Given the description of an element on the screen output the (x, y) to click on. 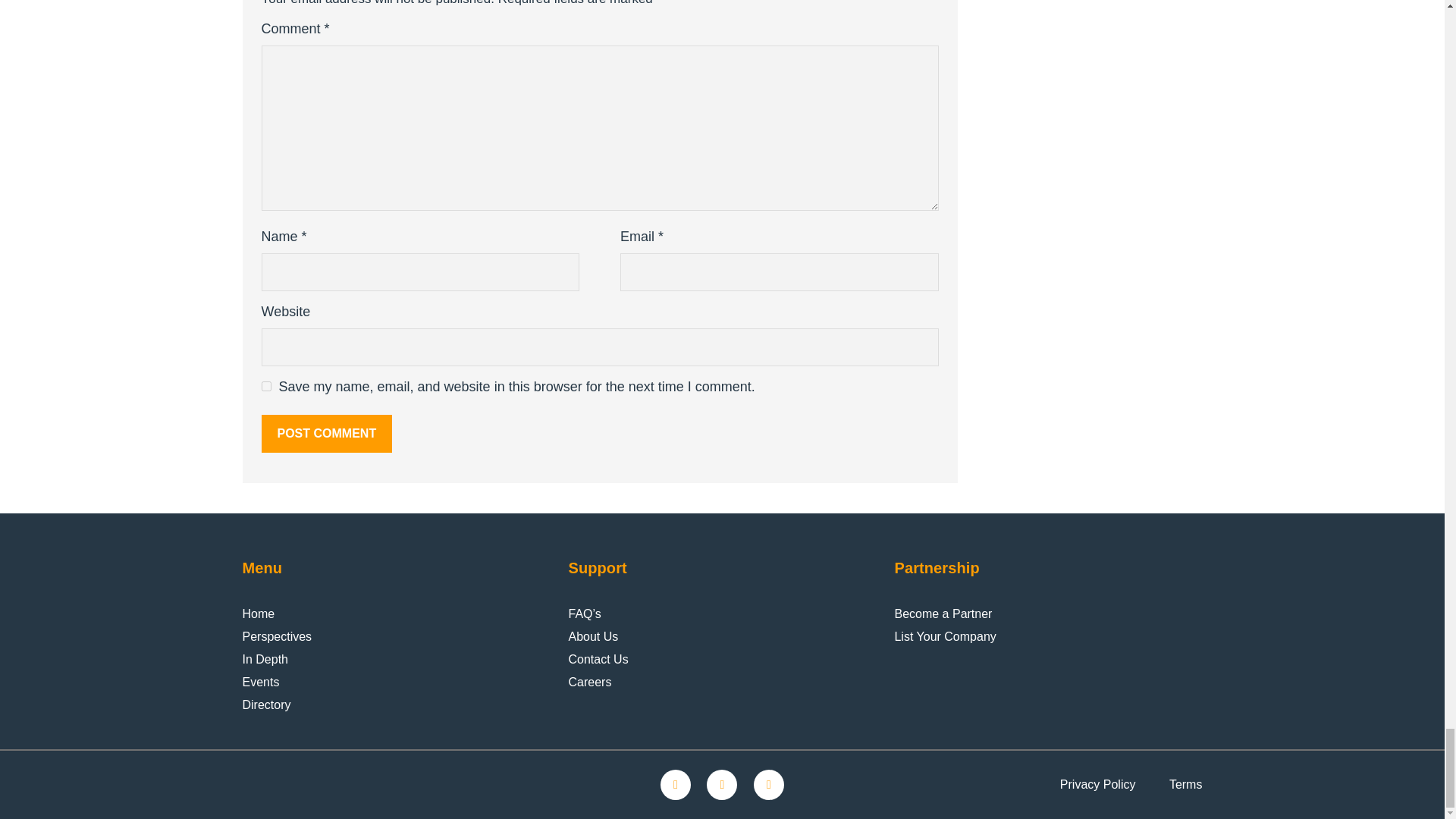
About Us (592, 637)
In Depth (265, 659)
Directory (267, 705)
Home (259, 614)
Events (261, 682)
yes (265, 386)
Perspectives (278, 637)
Post Comment (325, 433)
Post Comment (325, 433)
